Given the description of an element on the screen output the (x, y) to click on. 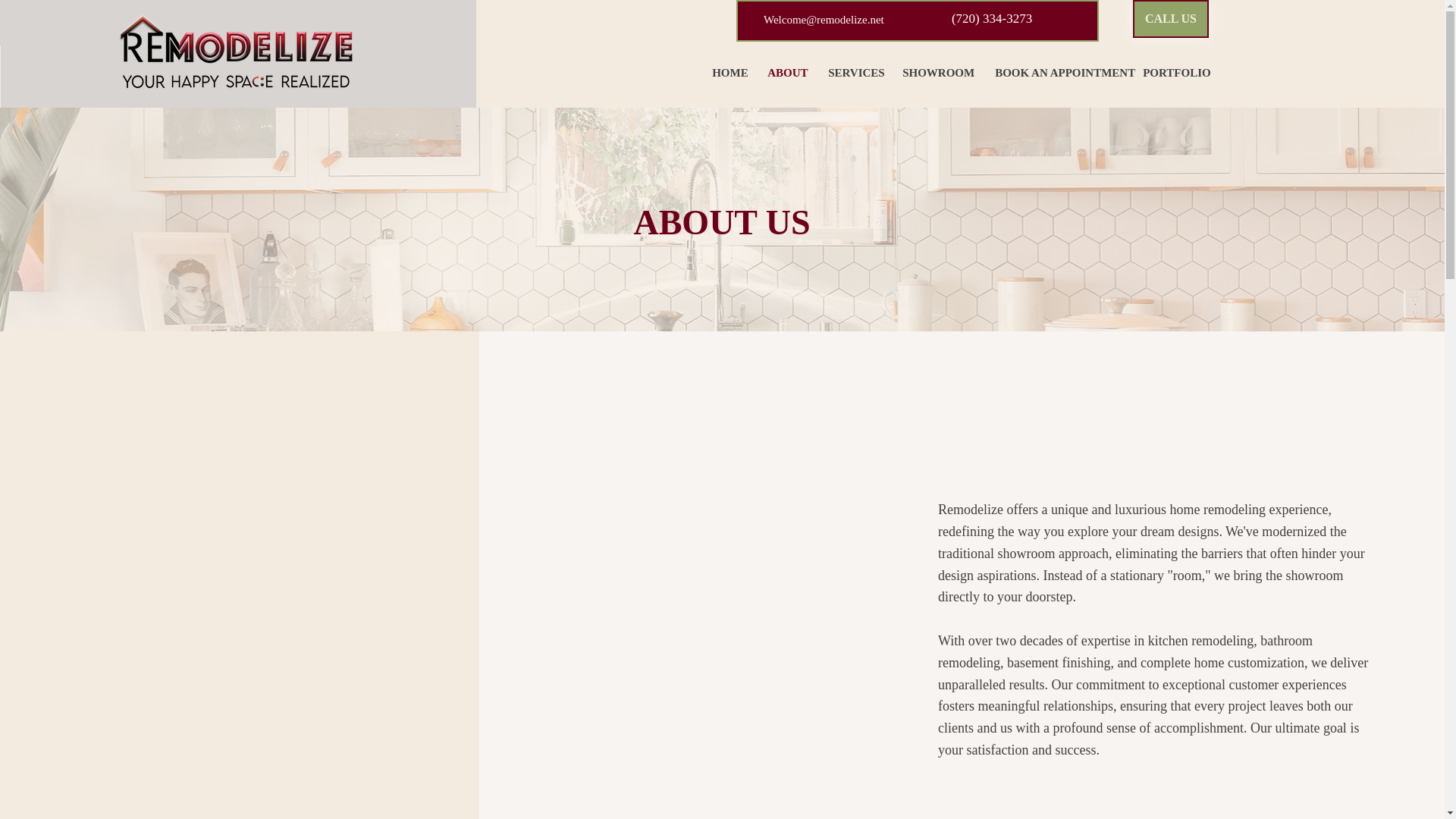
SHOWROOM (937, 73)
PORTFOLIO (1171, 73)
CALL US (1170, 18)
HOME (727, 73)
BOOK AN APPOINTMENT (1057, 73)
SERVICES (853, 73)
ABOUT (785, 73)
